Given the description of an element on the screen output the (x, y) to click on. 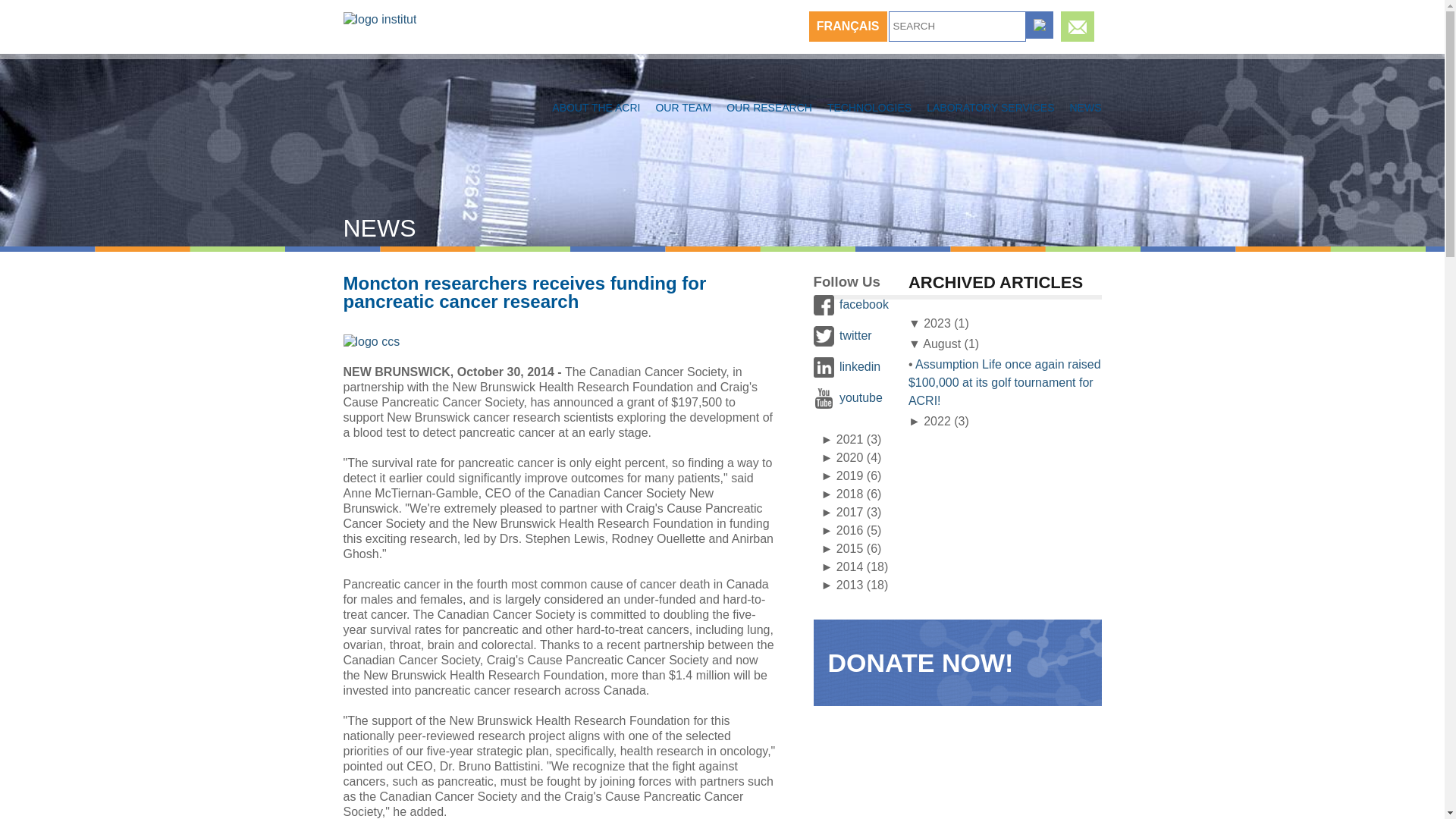
linkedin Element type: text (859, 365)
facebook Element type: text (863, 303)
NEWS Element type: text (1085, 106)
DONATE NOW! Element type: text (920, 662)
twitter Element type: text (855, 335)
youtube Element type: text (860, 397)
